Given the description of an element on the screen output the (x, y) to click on. 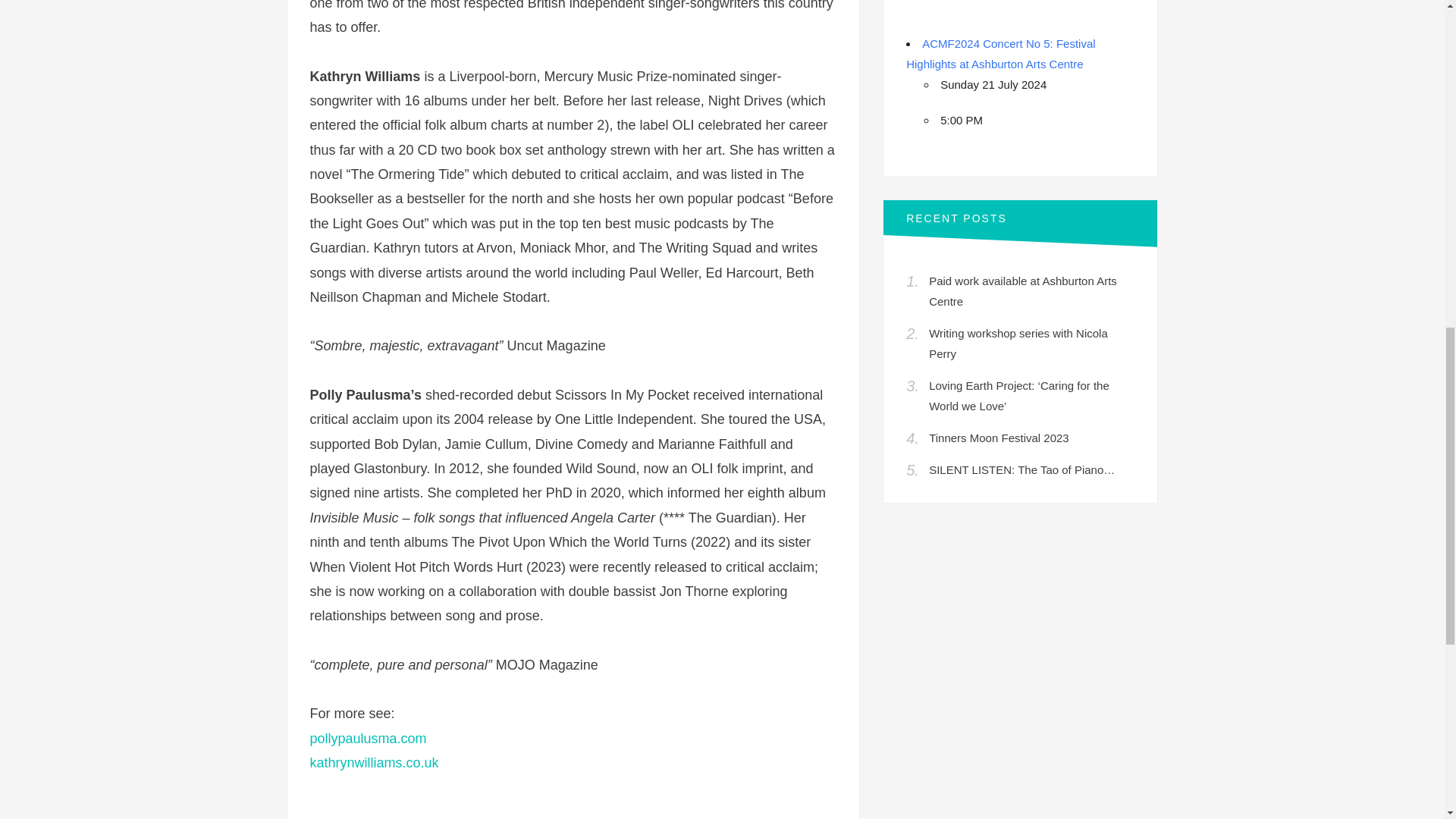
Tinners Moon Festival 2023 (998, 437)
pollypaulusma.com (367, 738)
Paid work available at Ashburton Arts Centre (1022, 290)
Writing workshop series with Nicola Perry (1018, 343)
kathrynwilliams.co.uk (373, 762)
